Given the description of an element on the screen output the (x, y) to click on. 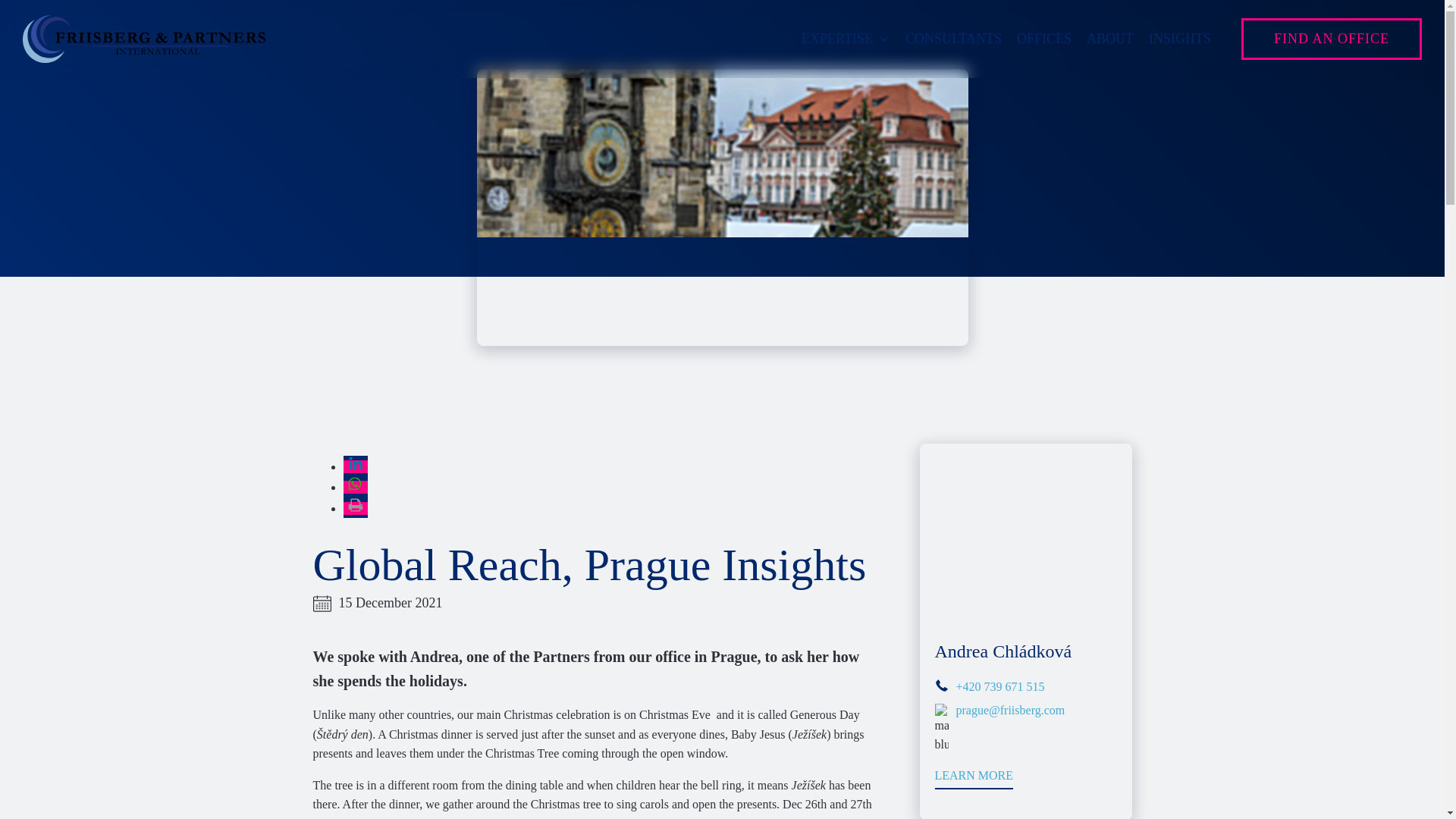
CONSULTANTS (953, 38)
INSIGHTS (1179, 38)
EXPERTISE (845, 38)
Share on LinkedIn (354, 465)
LEARN MORE (973, 779)
Share on Whatsapp (354, 486)
OFFICES (1043, 38)
print (354, 508)
ABOUT (1110, 38)
FIND AN OFFICE (1331, 38)
